Given the description of an element on the screen output the (x, y) to click on. 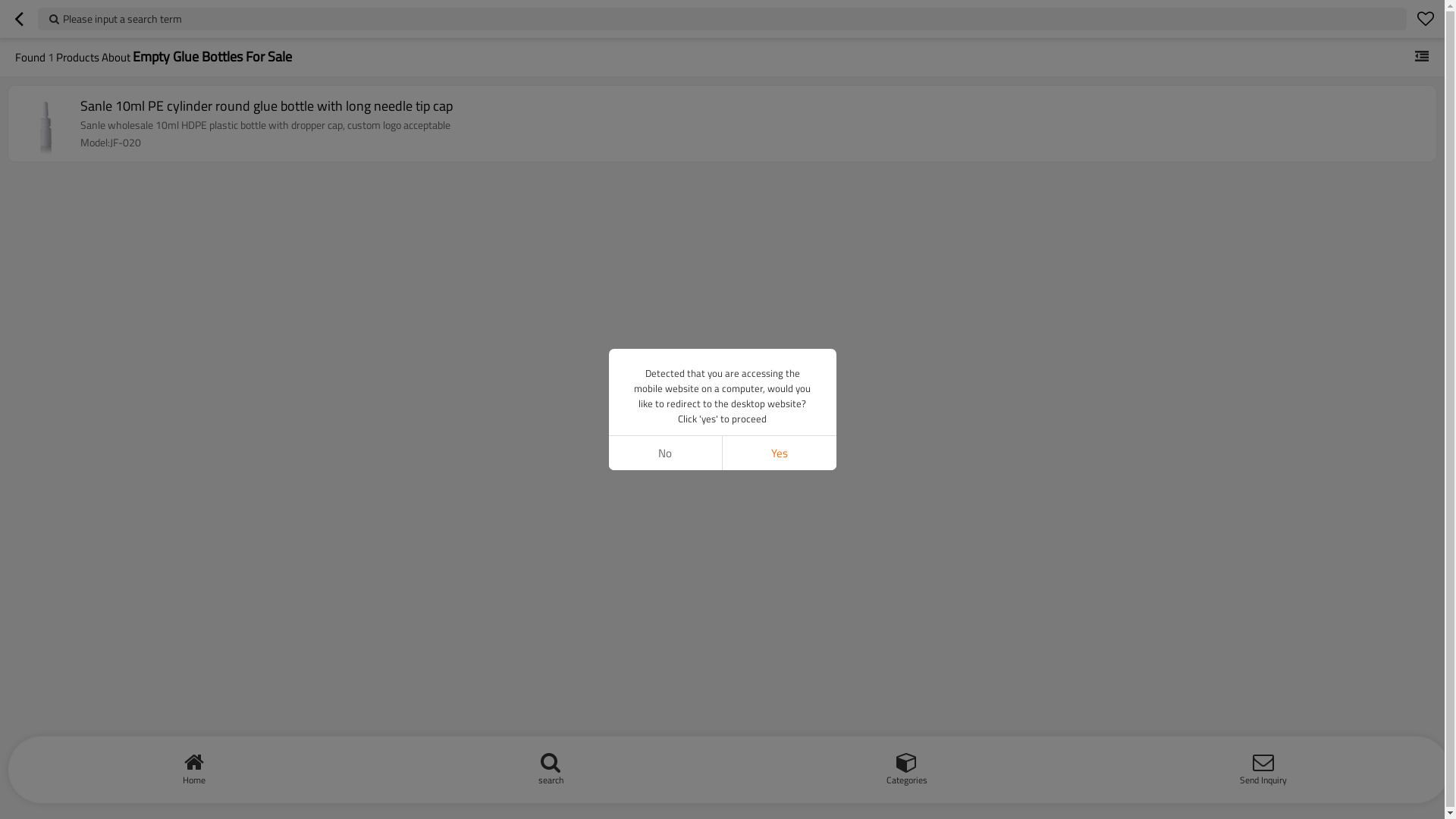
Send Inquiry Element type: text (1263, 765)
No Element type: text (664, 453)
Home Element type: text (193, 765)
search Element type: text (550, 765)
Wish list Element type: hover (1425, 18)
Return Element type: hover (18, 18)
Yes Element type: text (778, 453)
Categories Element type: text (906, 765)
Please input a search term Element type: text (721, 18)
Category Element type: hover (1421, 56)
